Given the description of an element on the screen output the (x, y) to click on. 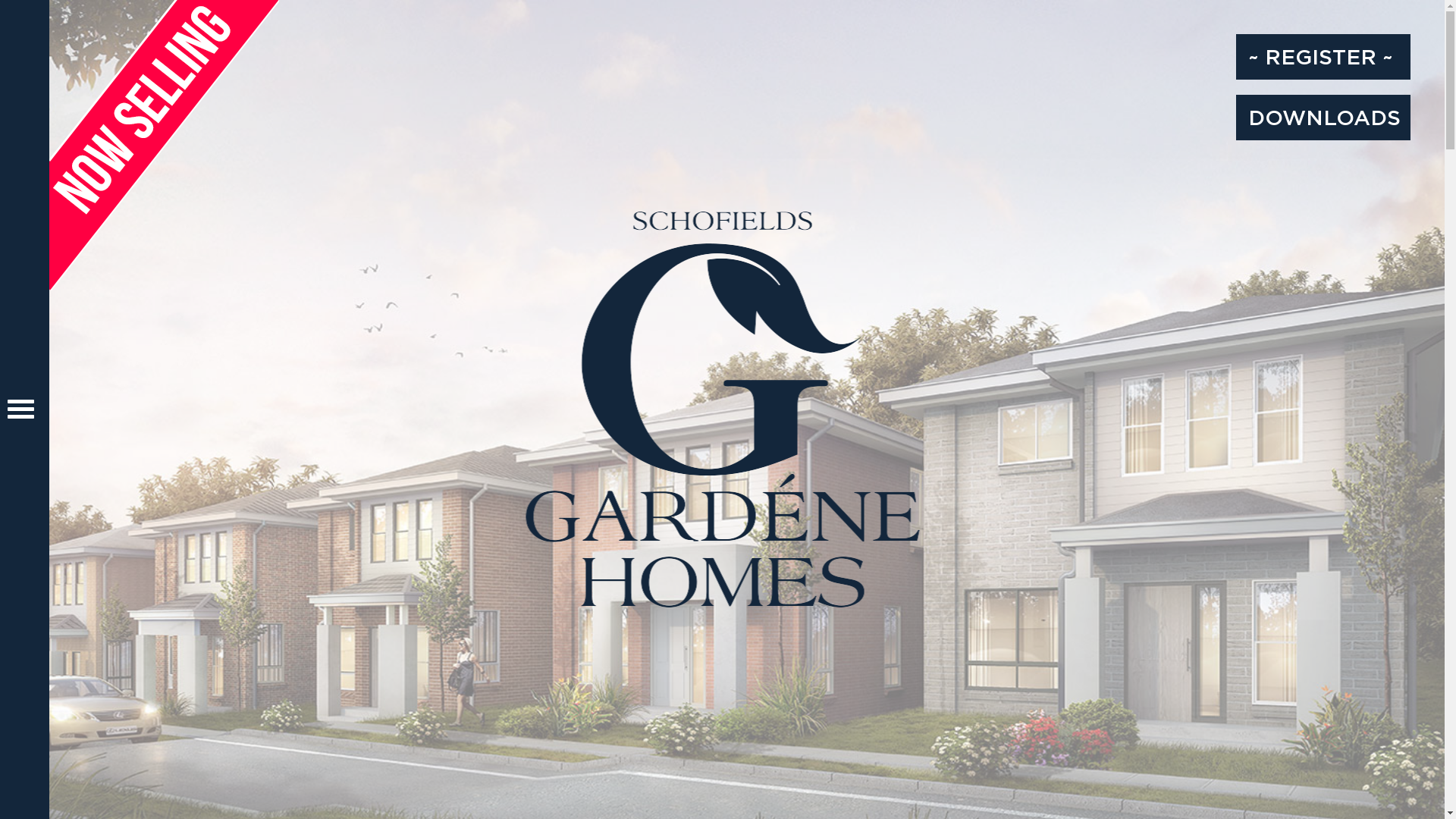
~ REGISTER ~ Element type: text (1323, 56)
DOWNLOADS Element type: text (1323, 117)
